Given the description of an element on the screen output the (x, y) to click on. 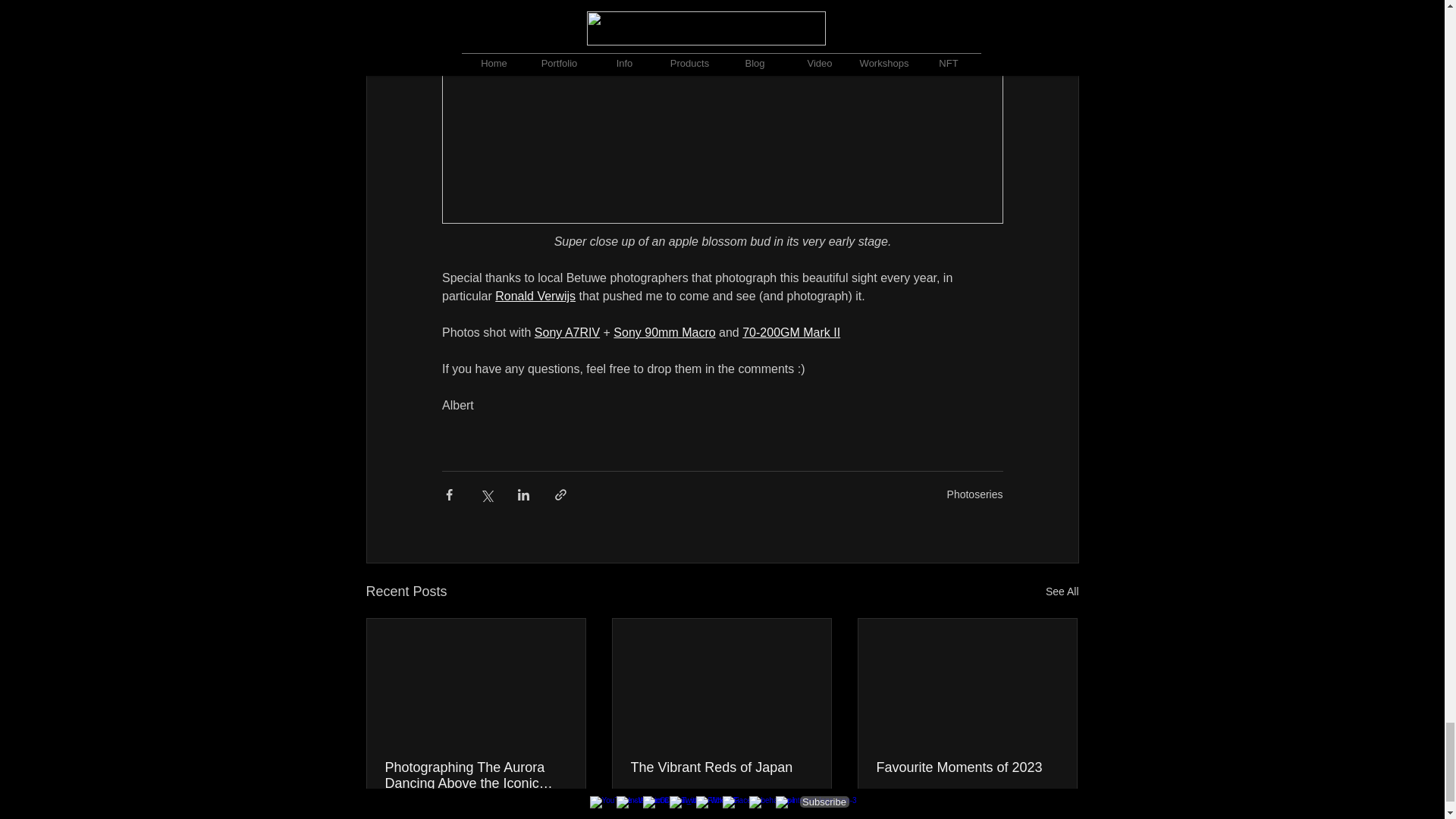
Ronald Verwijs (535, 295)
Sony A7RIV (566, 332)
